Given the description of an element on the screen output the (x, y) to click on. 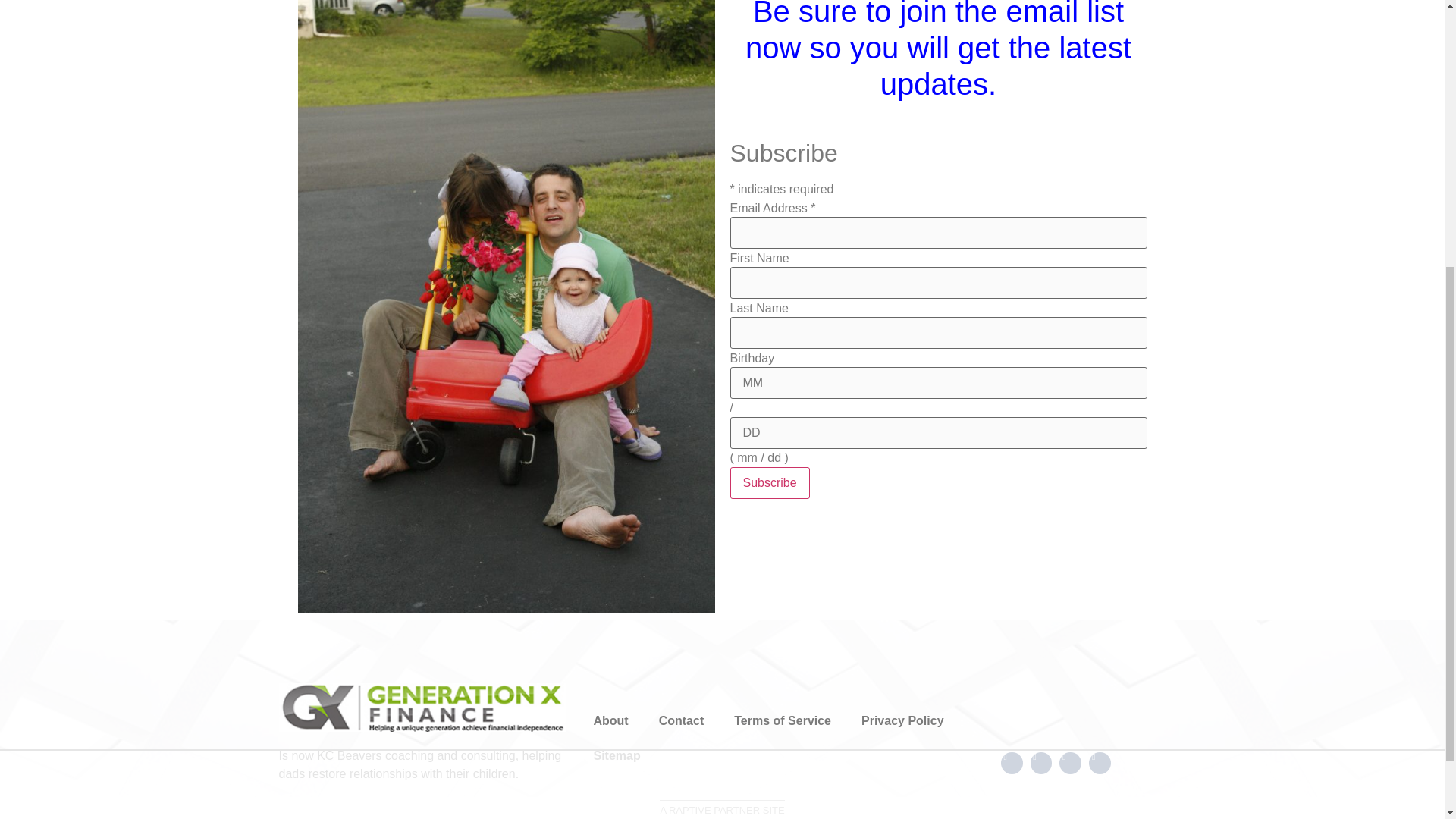
Terms of Service (782, 720)
Sitemap (616, 755)
About (610, 720)
Subscribe (769, 482)
Contact (681, 720)
Subscribe (769, 482)
Privacy Policy (902, 720)
